Given the description of an element on the screen output the (x, y) to click on. 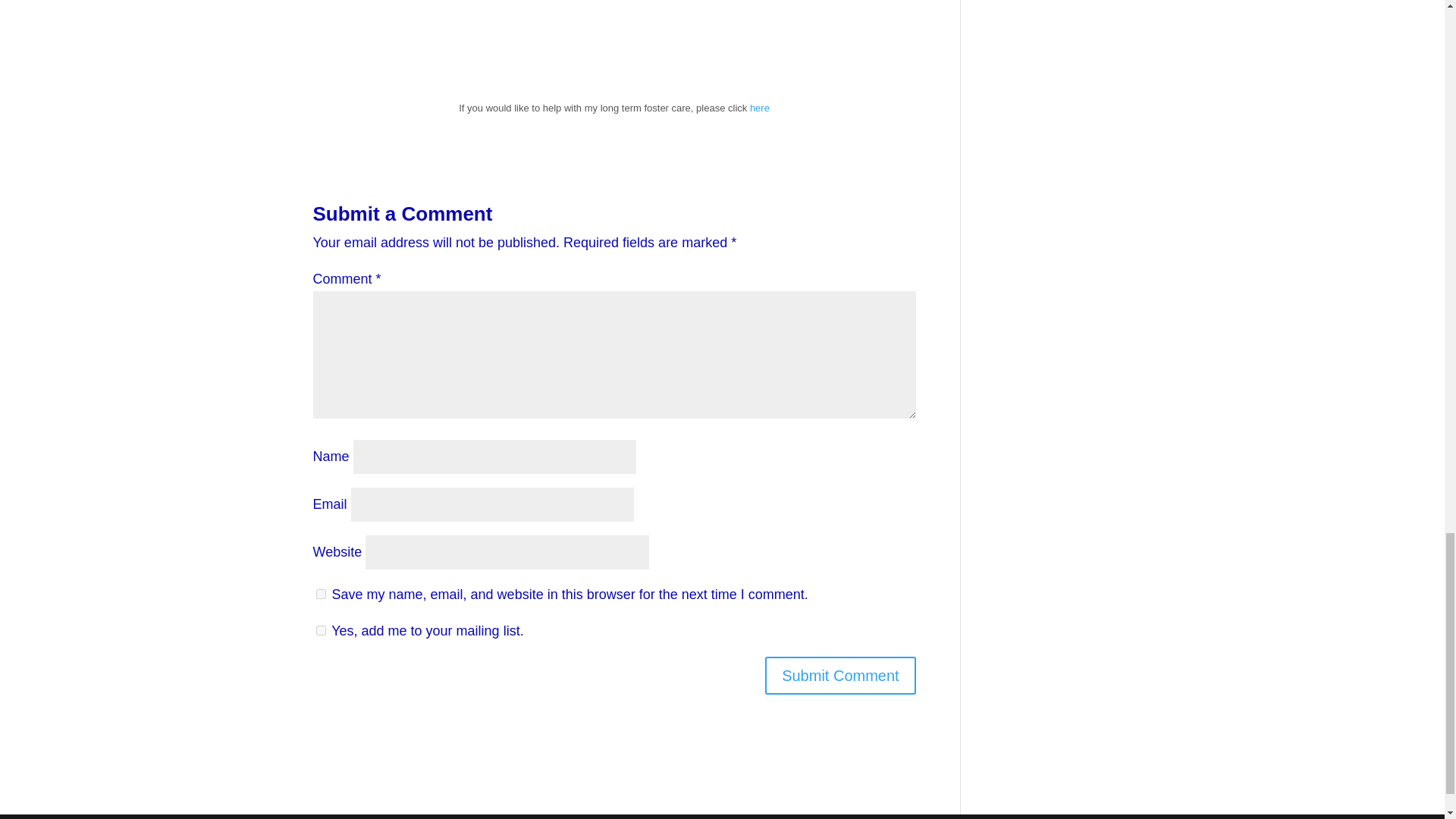
here (759, 107)
yes (319, 593)
1 (319, 630)
Submit Comment (840, 675)
Submit Comment (840, 675)
